Given the description of an element on the screen output the (x, y) to click on. 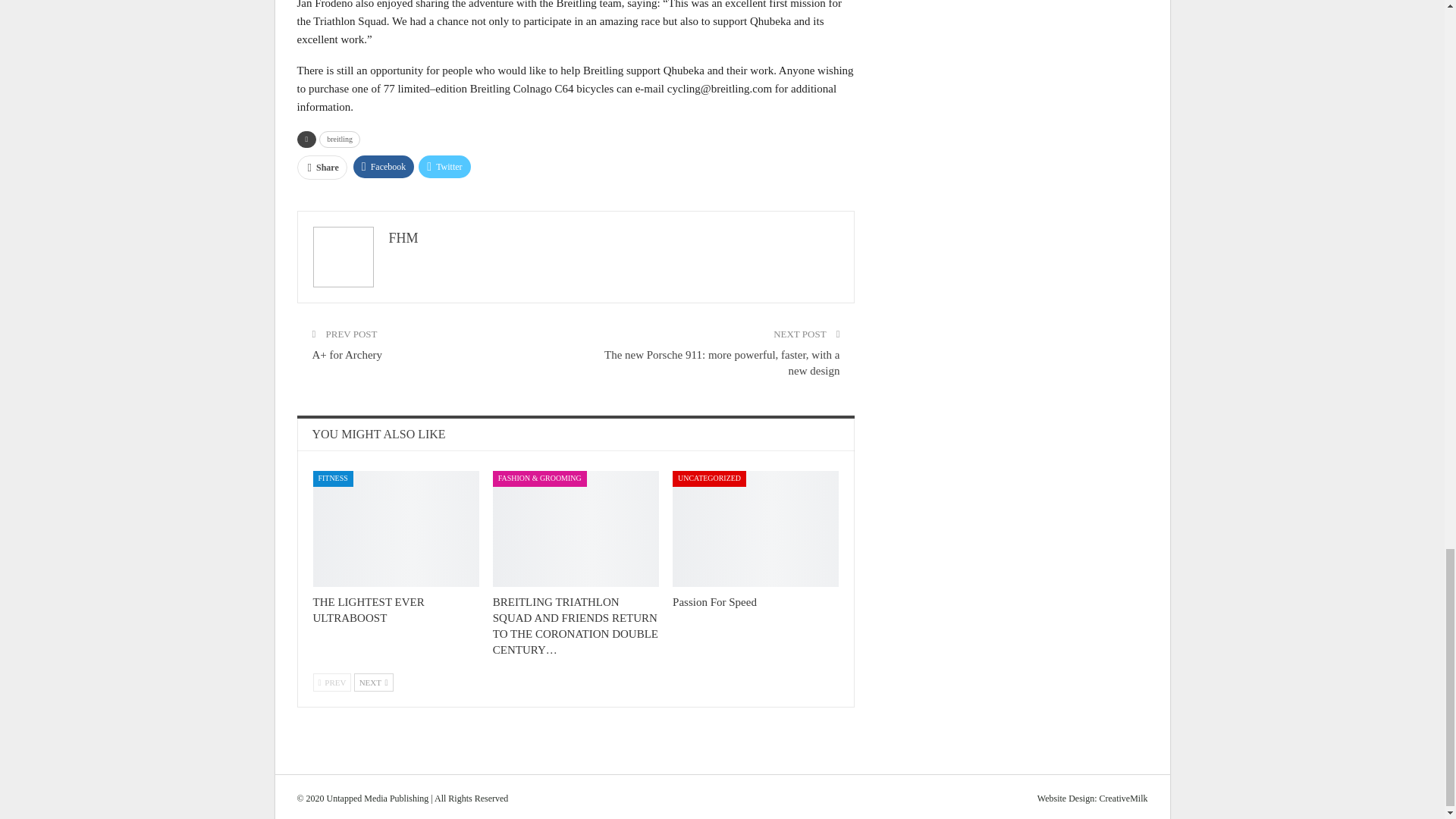
THE LIGHTEST EVER ULTRABOOST (396, 528)
THE LIGHTEST EVER ULTRABOOST (368, 610)
